Given the description of an element on the screen output the (x, y) to click on. 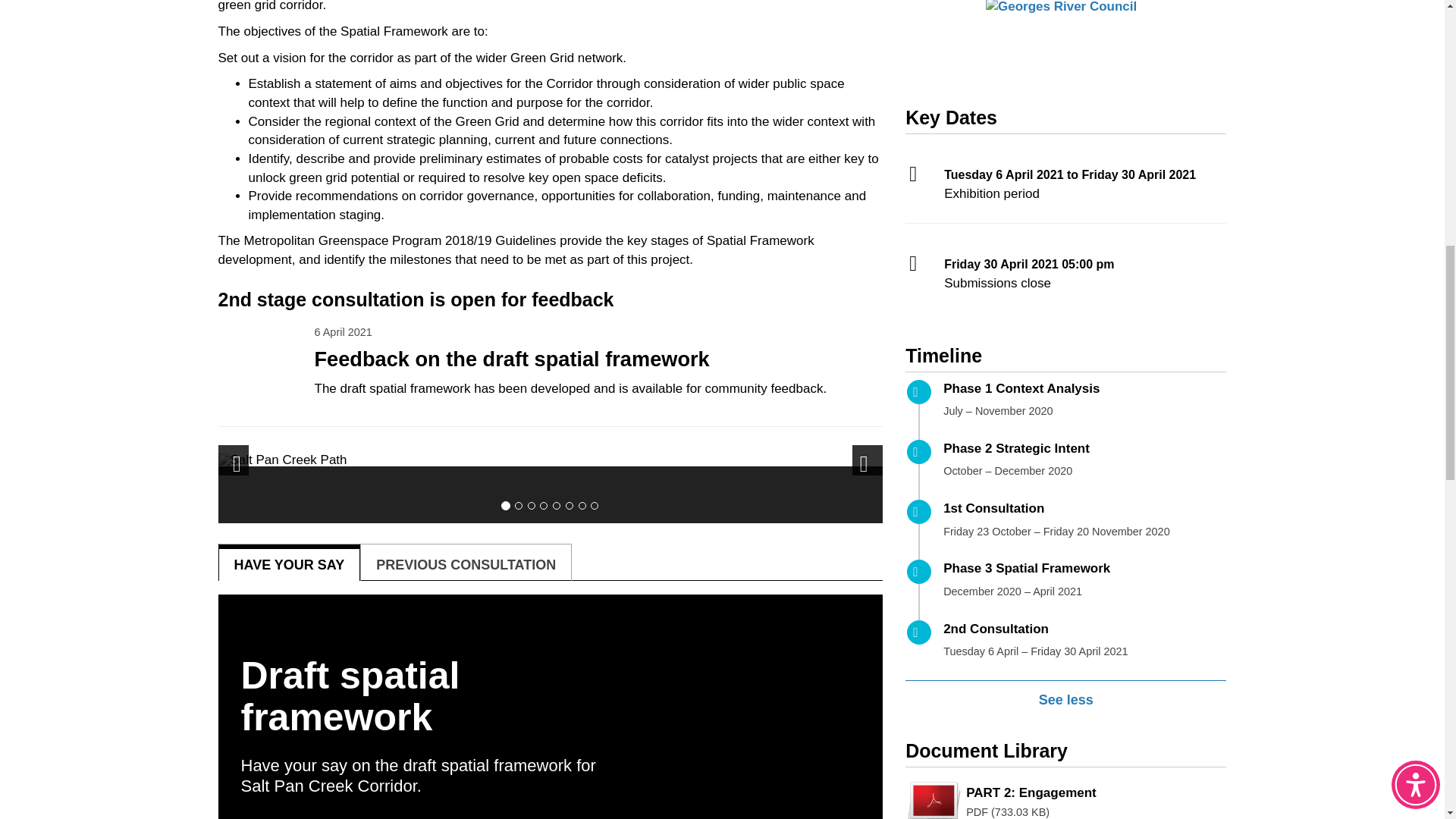
Feedback on the draft spatial framework (598, 363)
PREVIOUS CONSULTATION (465, 562)
HAVE YOUR SAY (288, 562)
Previous (233, 460)
Next (866, 460)
